Given the description of an element on the screen output the (x, y) to click on. 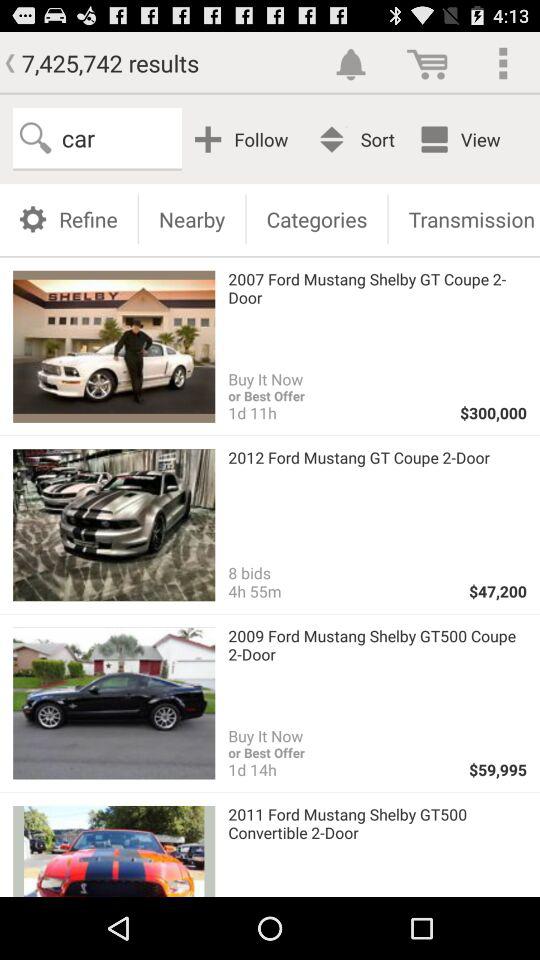
swipe to the nearby item (192, 218)
